Given the description of an element on the screen output the (x, y) to click on. 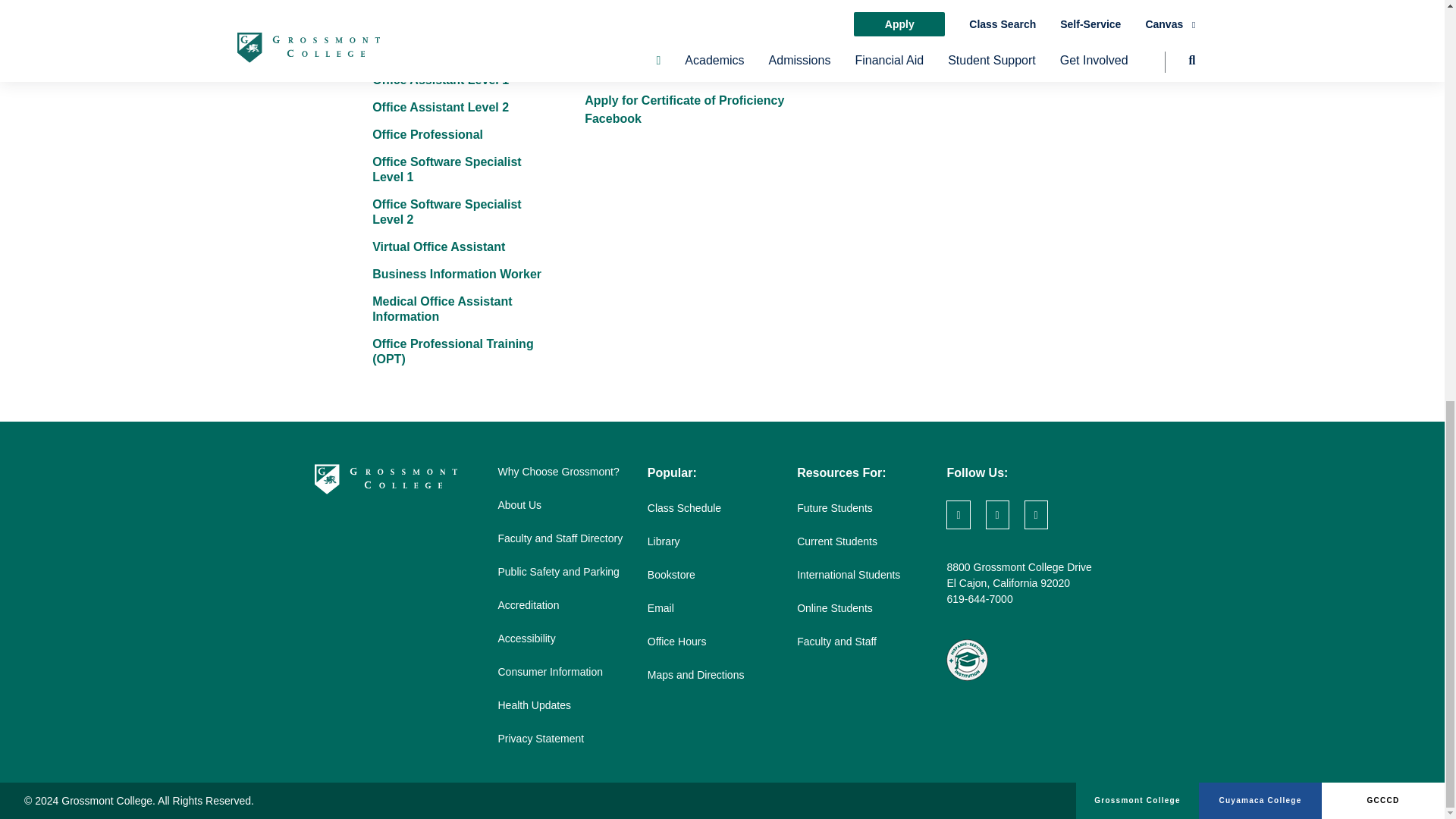
Office Assistant Level 1 (440, 79)
Office Assistant Level 2 (440, 106)
Office Professional (427, 133)
Medical Office Assistant (442, 51)
Executive Assistant (429, 2)
